Given the description of an element on the screen output the (x, y) to click on. 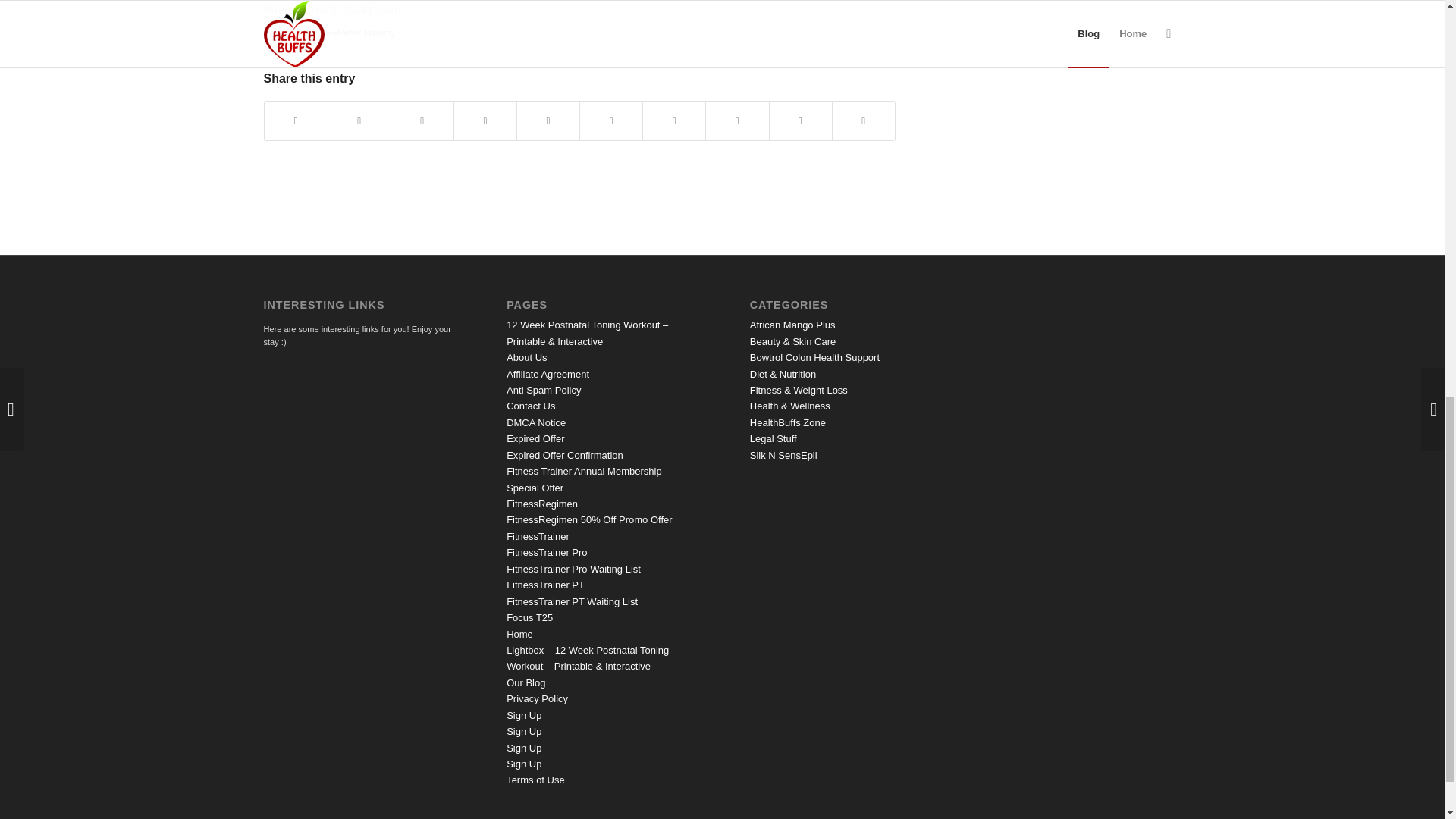
FitnessTrainer (537, 536)
Affiliate Agreement (547, 374)
DMCA Notice (536, 422)
Fitness Trainer Annual Membership Special Offer (583, 479)
Anti Spam Policy (543, 389)
Contact Us (530, 405)
About Us (526, 357)
FitnessTrainer Pro (546, 552)
Expired Offer Confirmation (564, 455)
Expired Offer (535, 438)
